Given the description of an element on the screen output the (x, y) to click on. 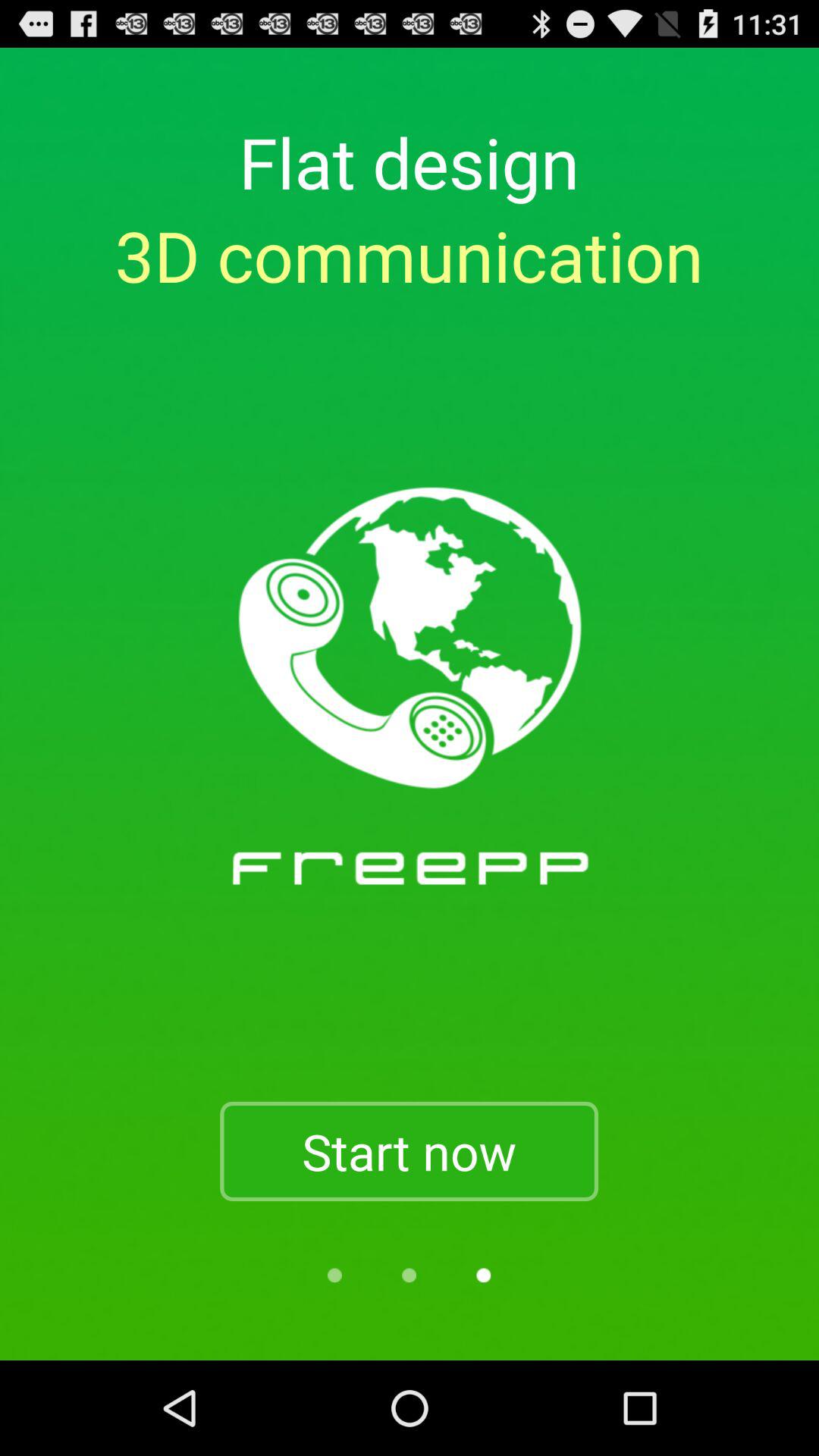
launch icon below the start now button (408, 1275)
